Given the description of an element on the screen output the (x, y) to click on. 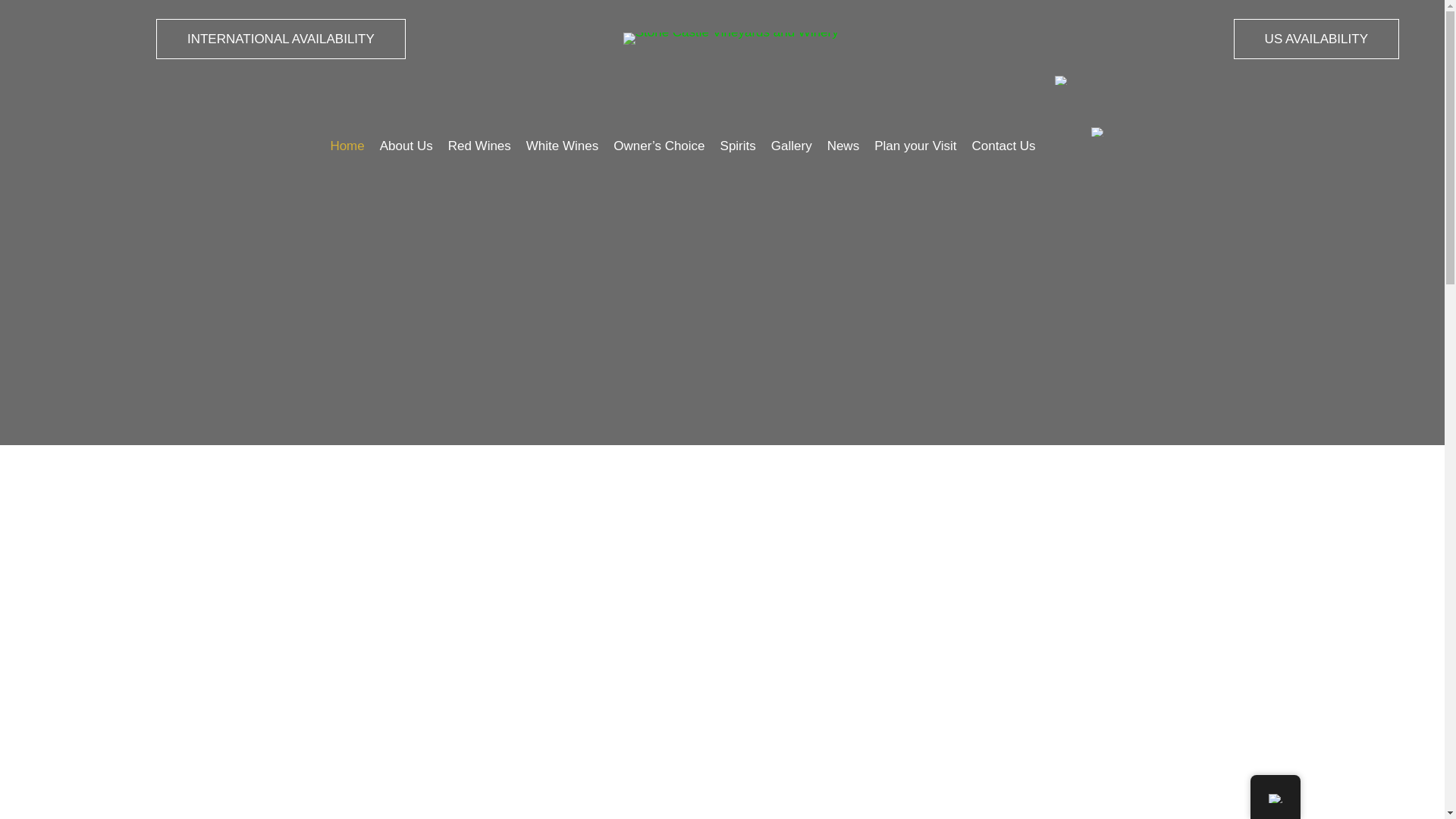
US AVAILABILITY (1316, 38)
Red Wines (479, 147)
Spirits (737, 147)
Albanian (1097, 131)
About Us (406, 147)
English (1274, 798)
Contact Us (1003, 147)
Gallery (791, 147)
Home (347, 147)
INTERNATIONAL AVAILABILITY (280, 38)
White Wines (561, 147)
Plan your Visit (915, 147)
English (1061, 80)
News (843, 147)
